Given the description of an element on the screen output the (x, y) to click on. 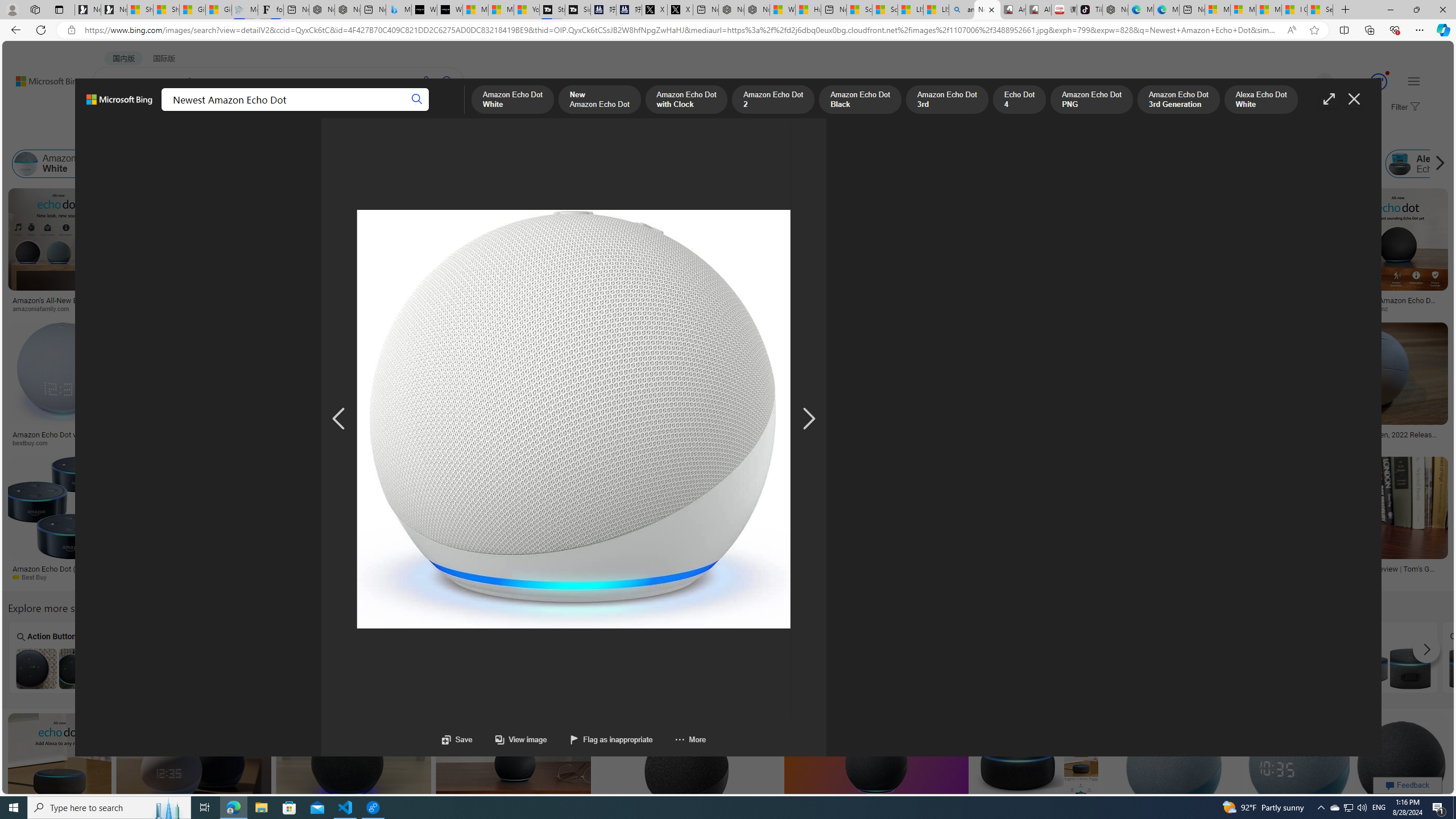
Newest Amazon Echo Dot (774, 668)
MAPS (397, 111)
Amazon Echo Dot Photo No Background (160, 668)
DICT (357, 111)
4th Gen Smart Speaker Alexa (1081, 656)
